Given the description of an element on the screen output the (x, y) to click on. 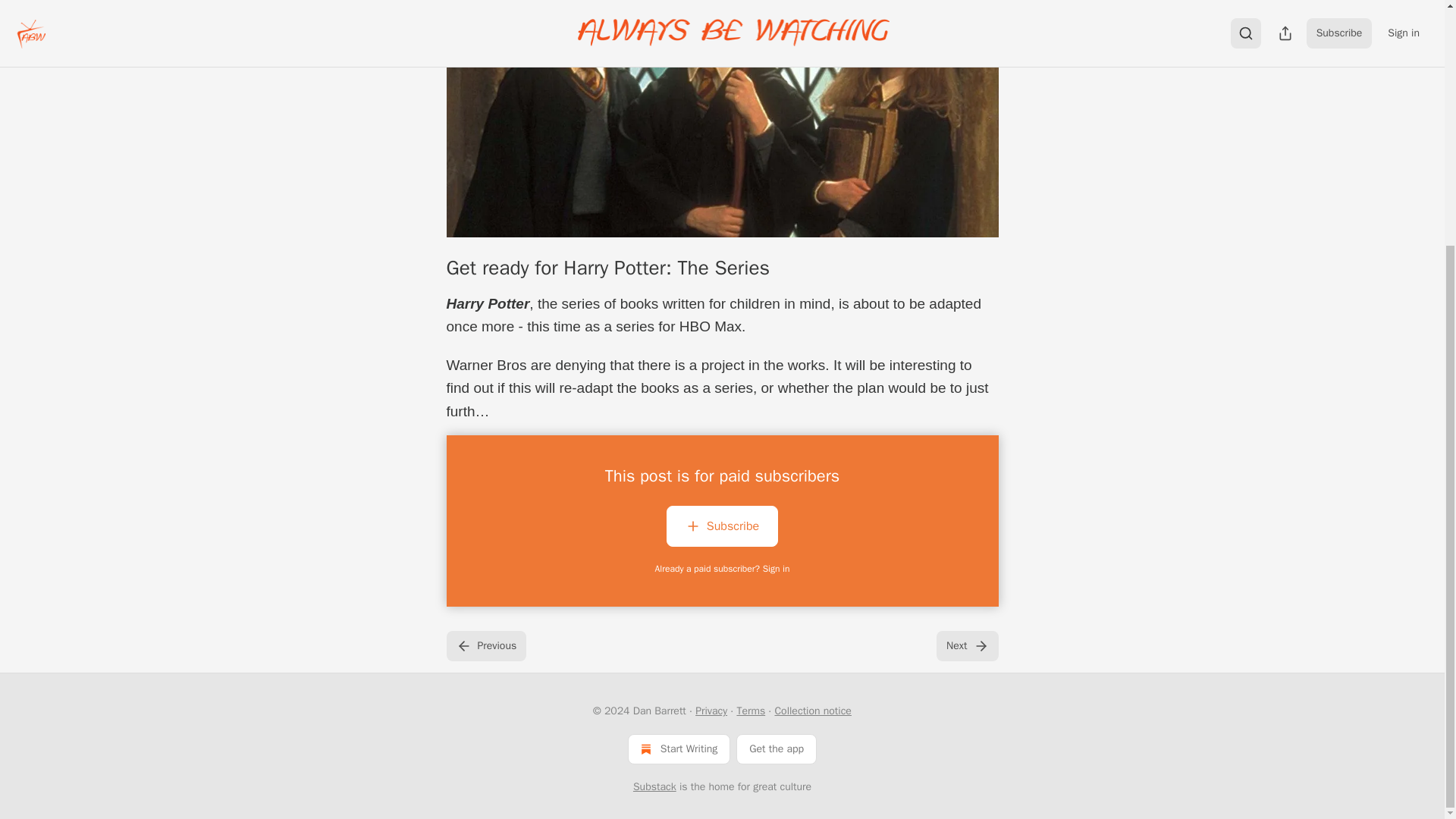
Privacy (710, 710)
Next (966, 645)
Subscribe (721, 529)
Terms (750, 710)
Already a paid subscriber? Sign in (722, 568)
Start Writing (678, 748)
Subscribe (721, 526)
Collection notice (812, 710)
Substack (655, 786)
Previous (485, 645)
Harry Potter - a TV series? Get outta here! (721, 118)
Get the app (776, 748)
